Given the description of an element on the screen output the (x, y) to click on. 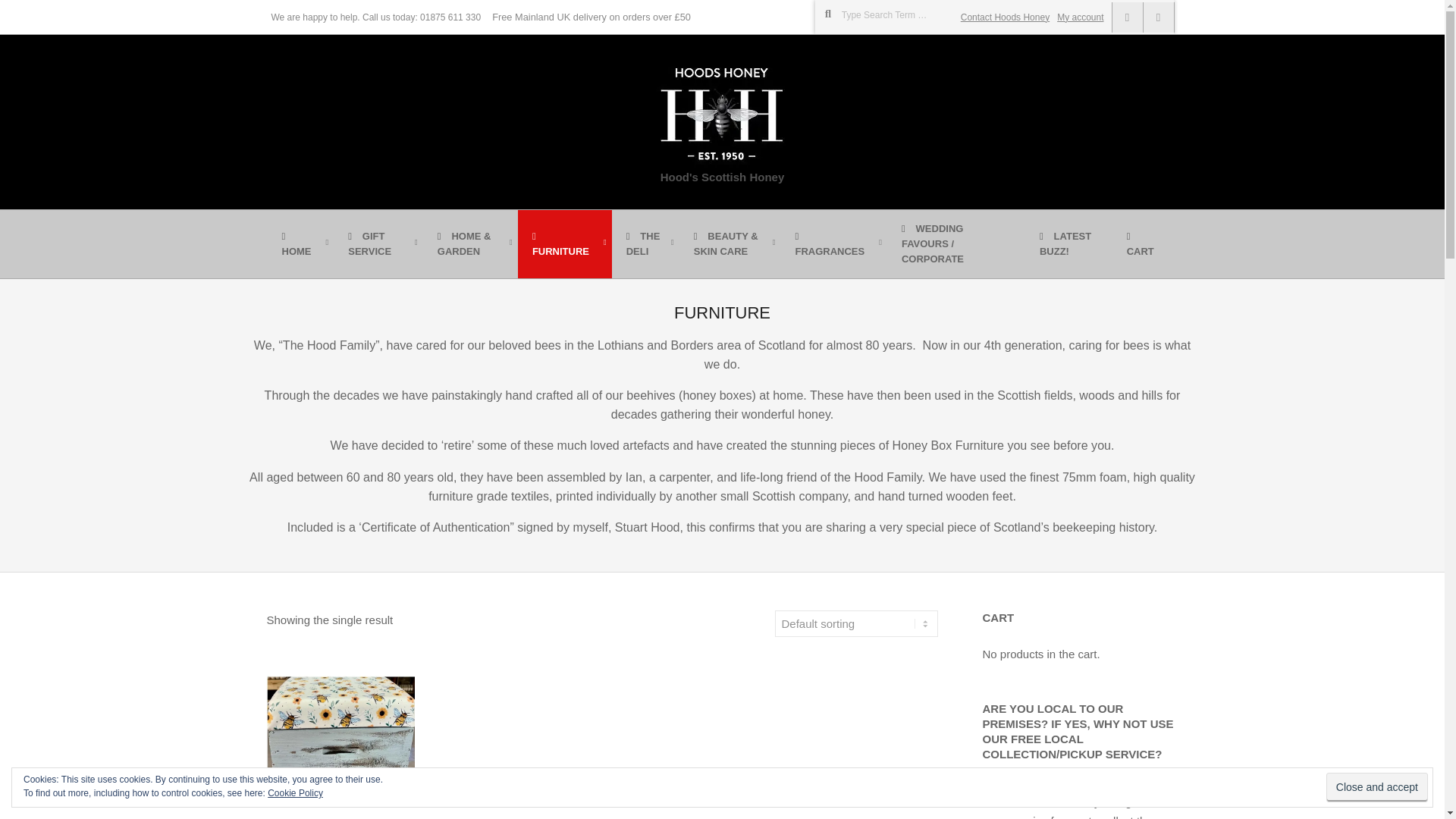
My account (1080, 17)
Contact Hoods Honey (1004, 17)
Close and accept (1377, 787)
FURNITURE (564, 244)
HOME (299, 244)
GIFT SERVICE (378, 244)
THE DELI (645, 244)
